Given the description of an element on the screen output the (x, y) to click on. 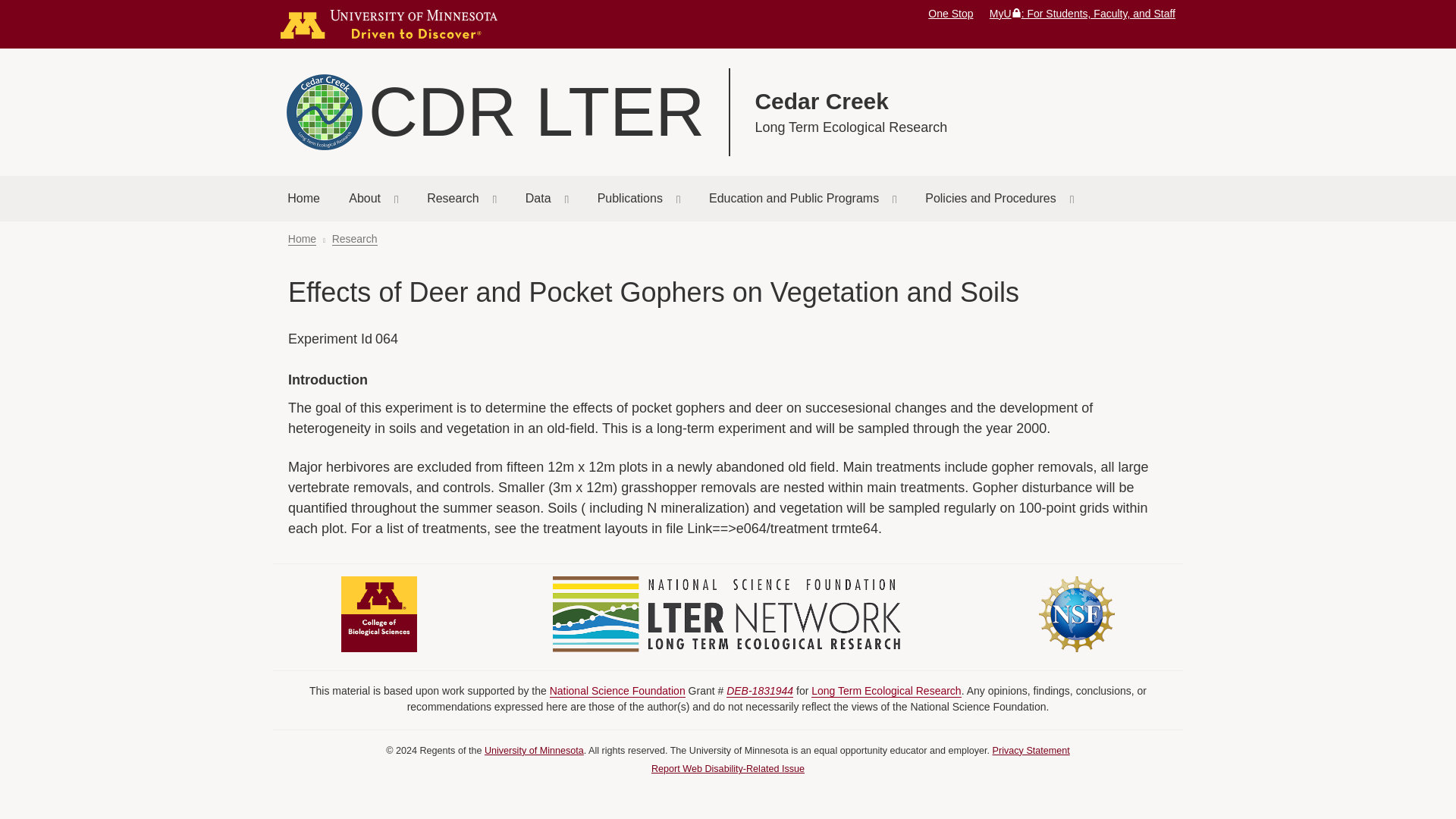
Back to the front page (303, 198)
